Given the description of an element on the screen output the (x, y) to click on. 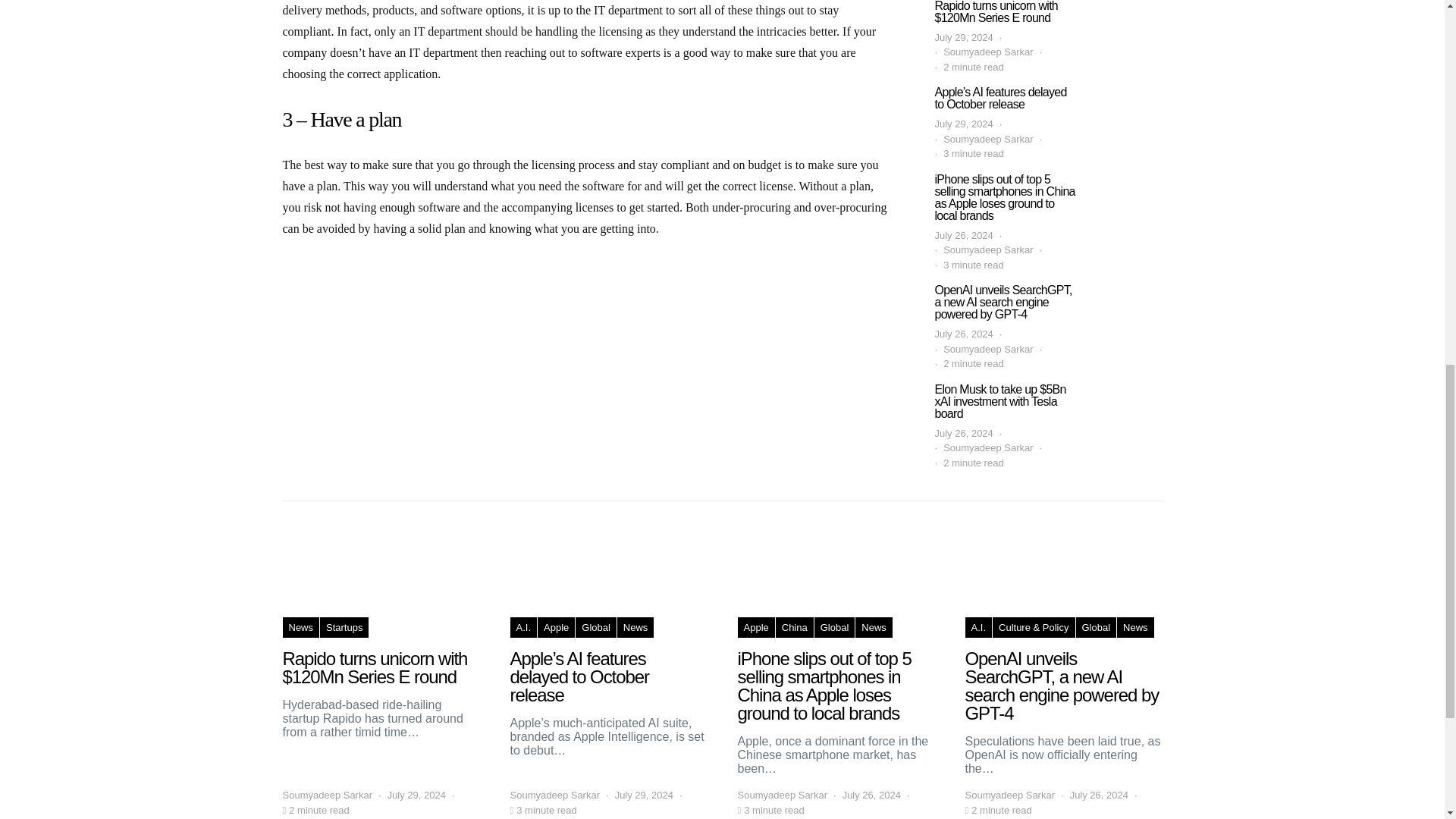
View all posts by Soumyadeep Sarkar (554, 795)
View all posts by Soumyadeep Sarkar (327, 795)
View all posts by Soumyadeep Sarkar (1008, 795)
View all posts by Soumyadeep Sarkar (781, 795)
